Given the description of an element on the screen output the (x, y) to click on. 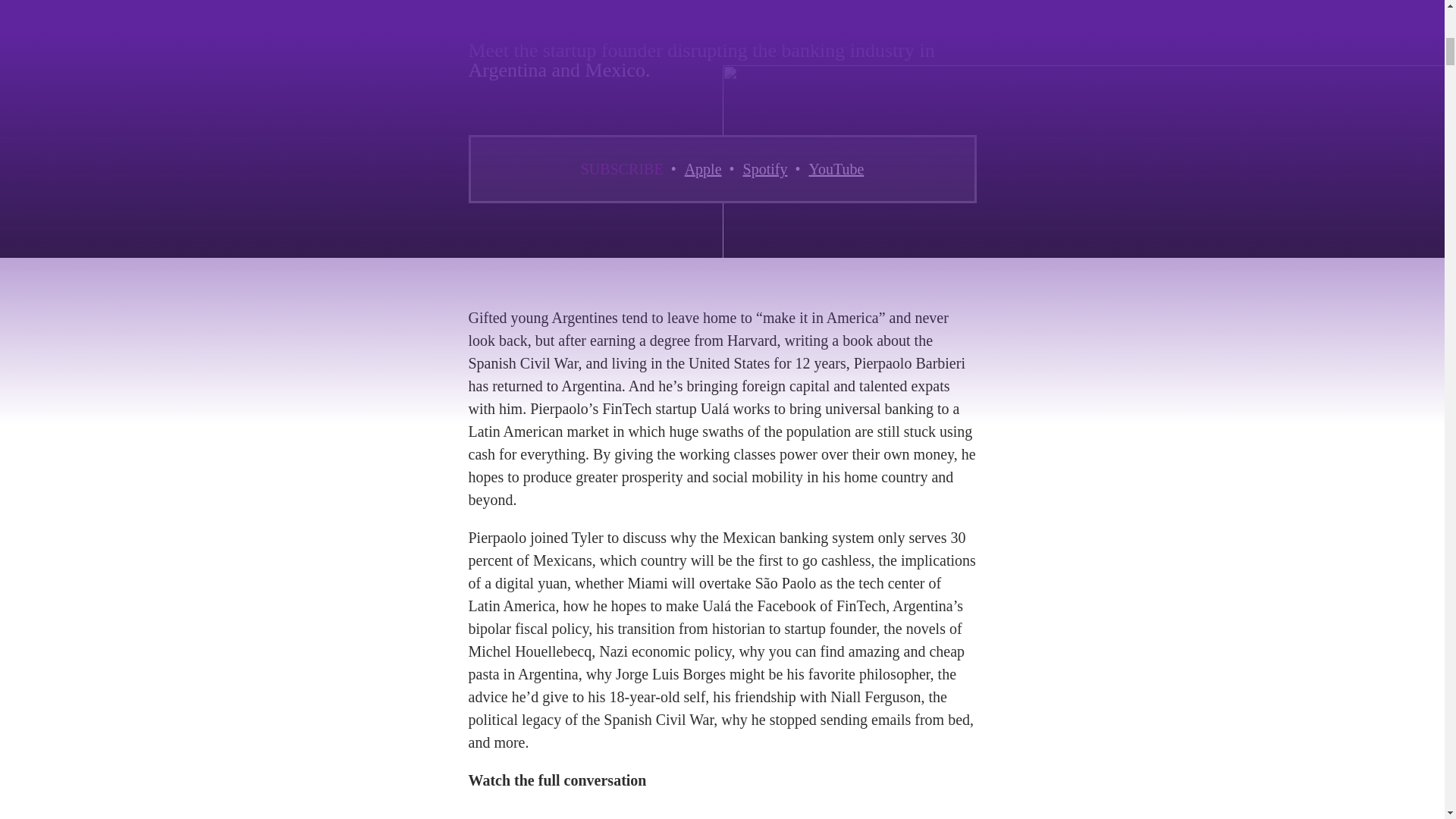
Apple (703, 168)
YouTube (835, 168)
Spotify (764, 168)
